Given the description of an element on the screen output the (x, y) to click on. 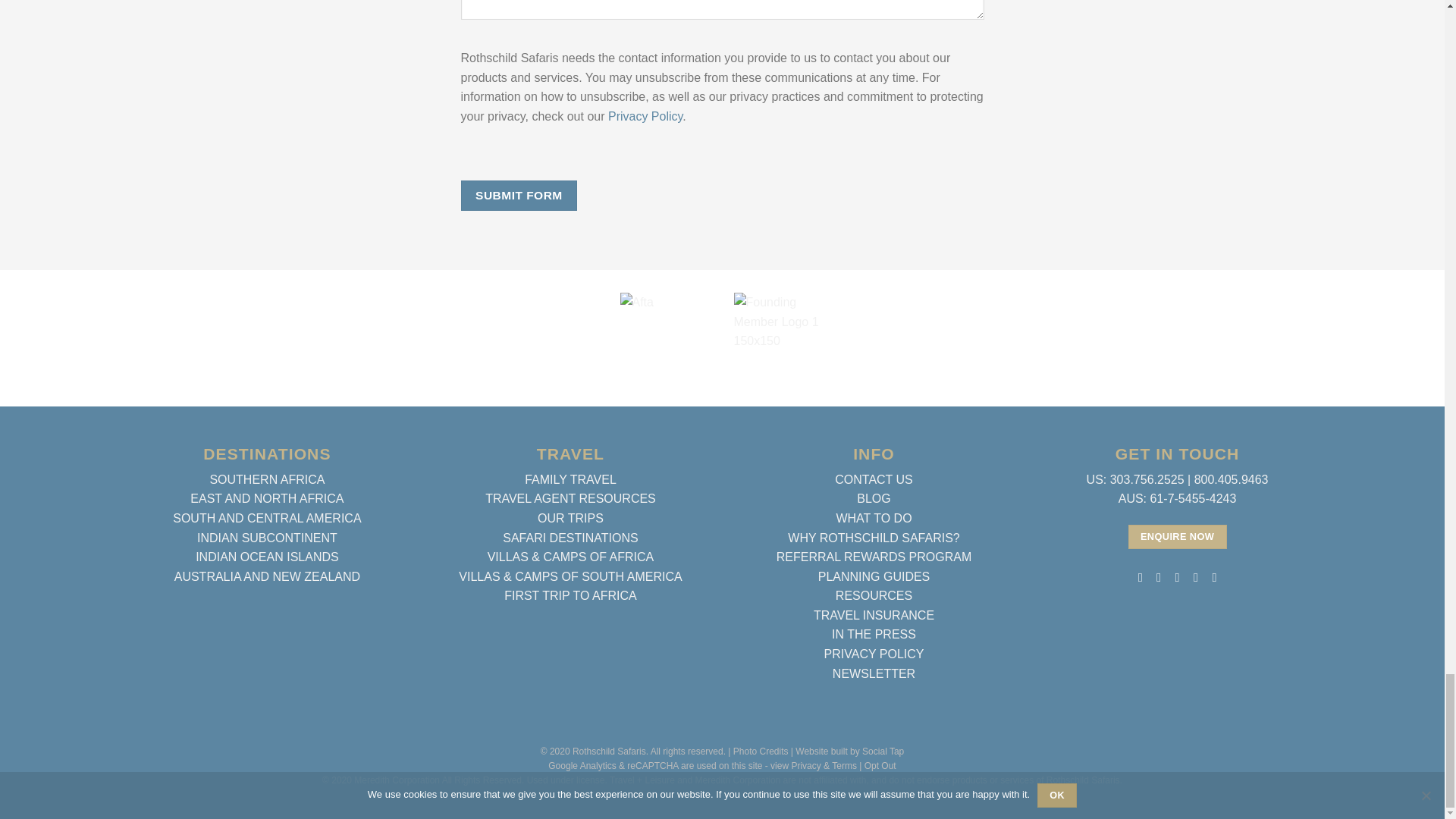
Follow on LinkedIn (1195, 576)
Follow on Facebook (1139, 576)
Follow on Instagram (1158, 576)
Submit Form (519, 194)
